Given the description of an element on the screen output the (x, y) to click on. 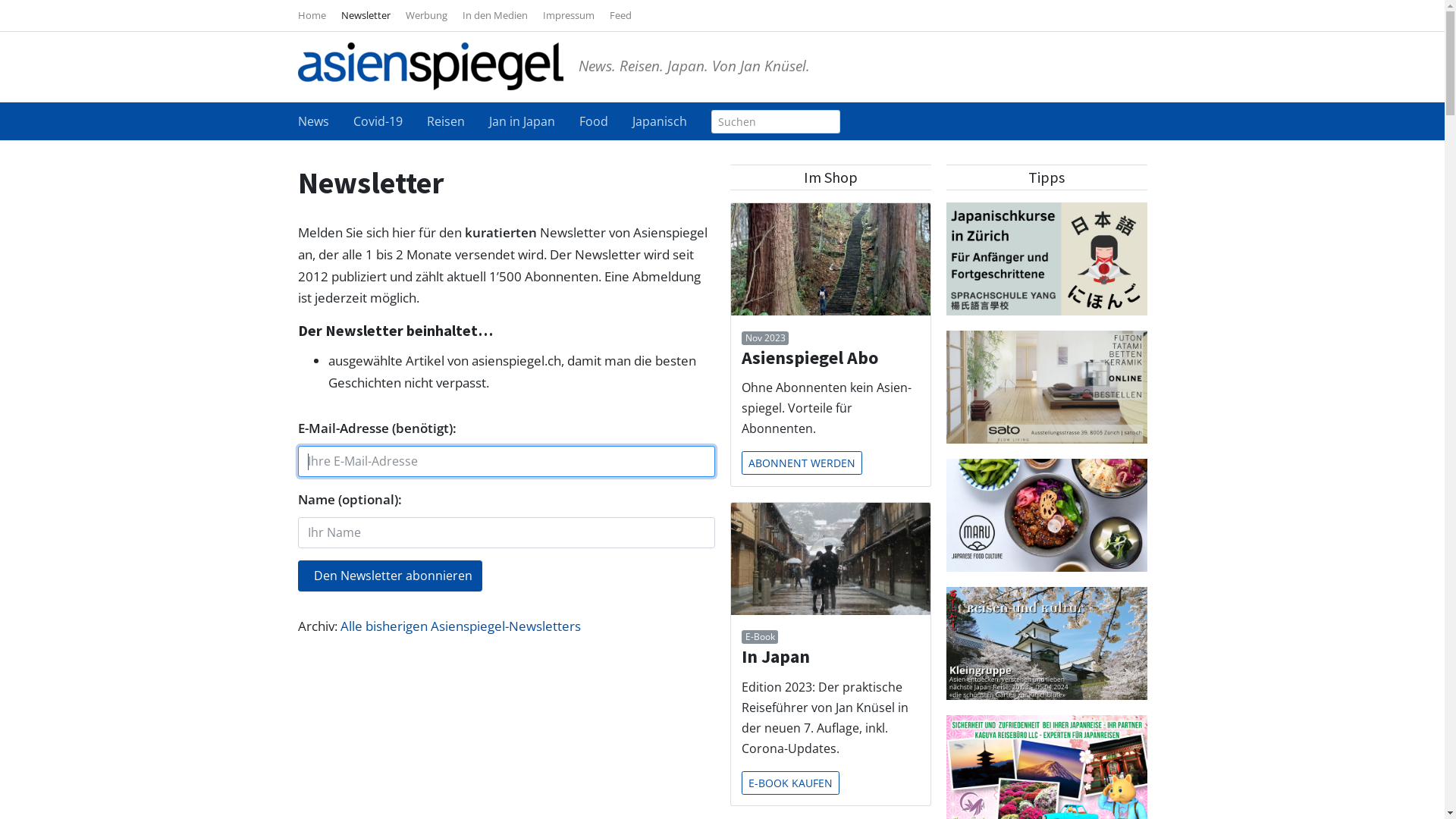
Reisen Element type: text (457, 121)
E-BOOK KAUFEN Element type: text (790, 782)
Covid-19 Element type: text (389, 121)
ABONNENT WERDEN Element type: text (801, 462)
News Element type: text (324, 121)
Suchen Element type: text (846, 121)
Jan in Japan Element type: text (533, 121)
Feed Element type: text (620, 14)
Im Shop Element type: text (829, 177)
In den Medien Element type: text (502, 14)
Japanisch Element type: text (659, 121)
  Den Newsletter abonnieren Element type: text (389, 575)
Impressum Element type: text (575, 14)
Tipps Element type: text (1046, 177)
Newsletter Element type: text (373, 14)
Home Element type: text (318, 14)
Food Element type: text (605, 121)
Werbung Element type: text (432, 14)
